Given the description of an element on the screen output the (x, y) to click on. 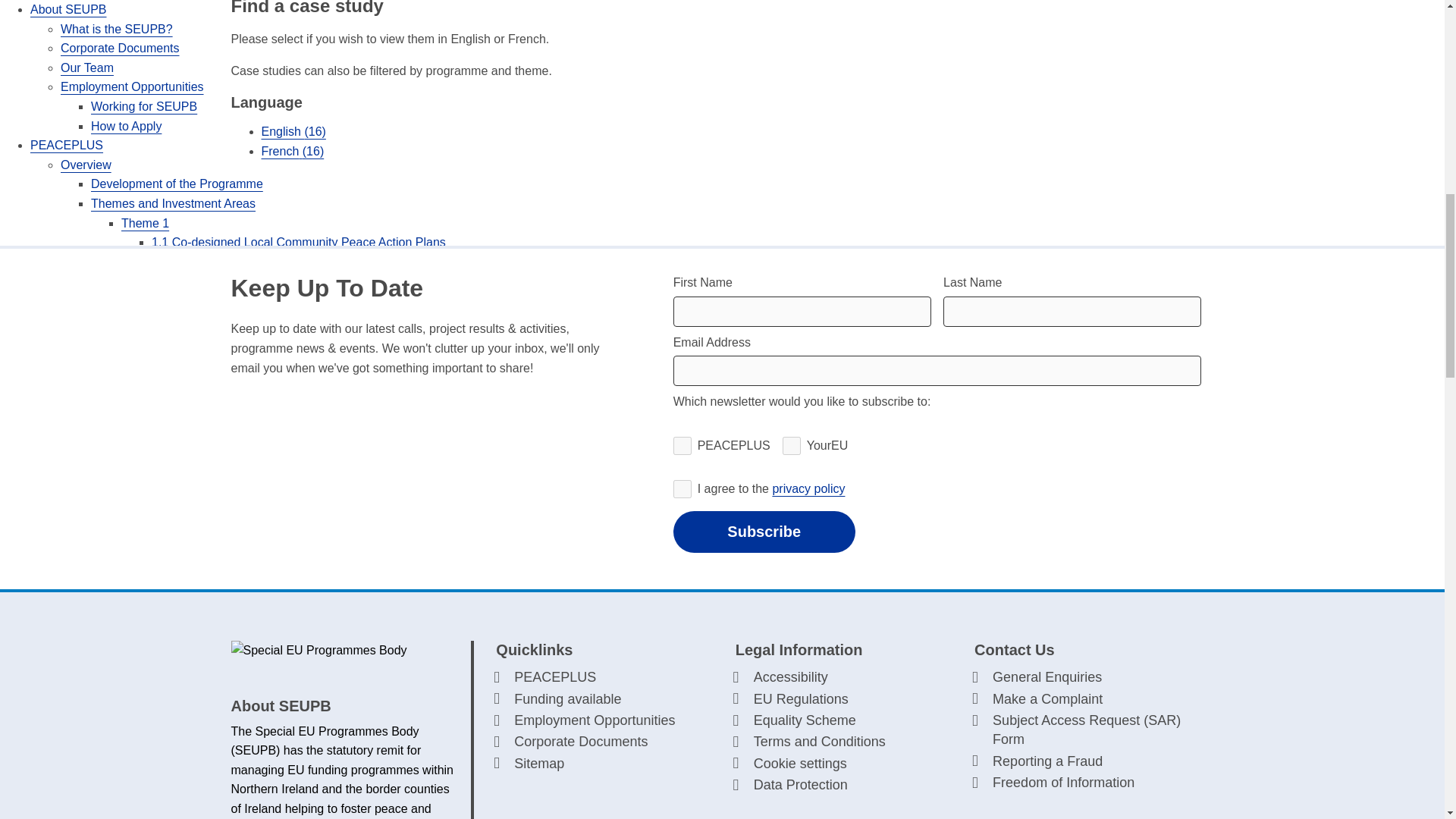
819661ec74 (681, 445)
Open the cookie consent dialog. (842, 763)
Subscribe (764, 531)
ca28ff2d01 (791, 445)
1 (681, 488)
